Given the description of an element on the screen output the (x, y) to click on. 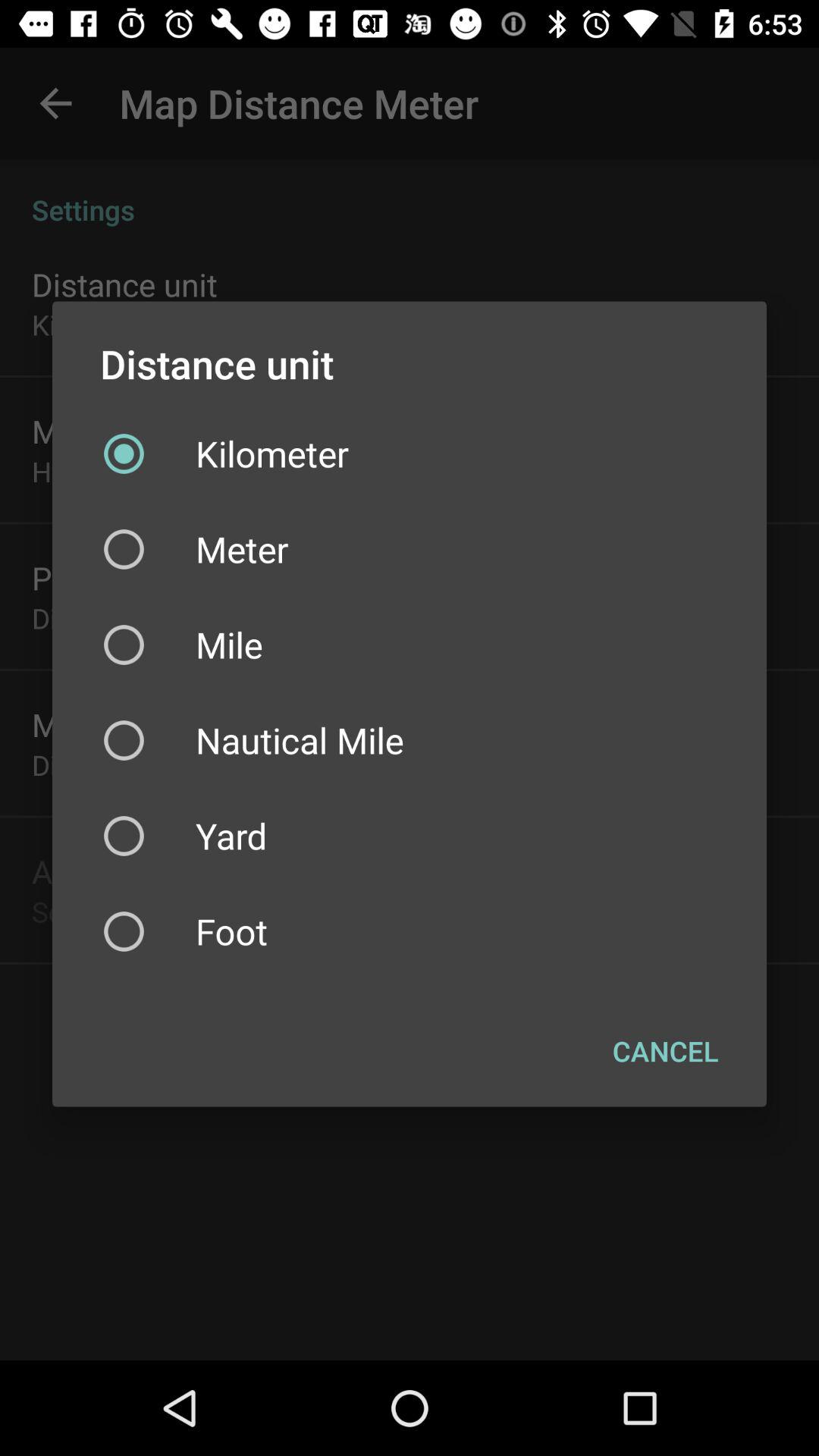
press cancel item (665, 1050)
